Given the description of an element on the screen output the (x, y) to click on. 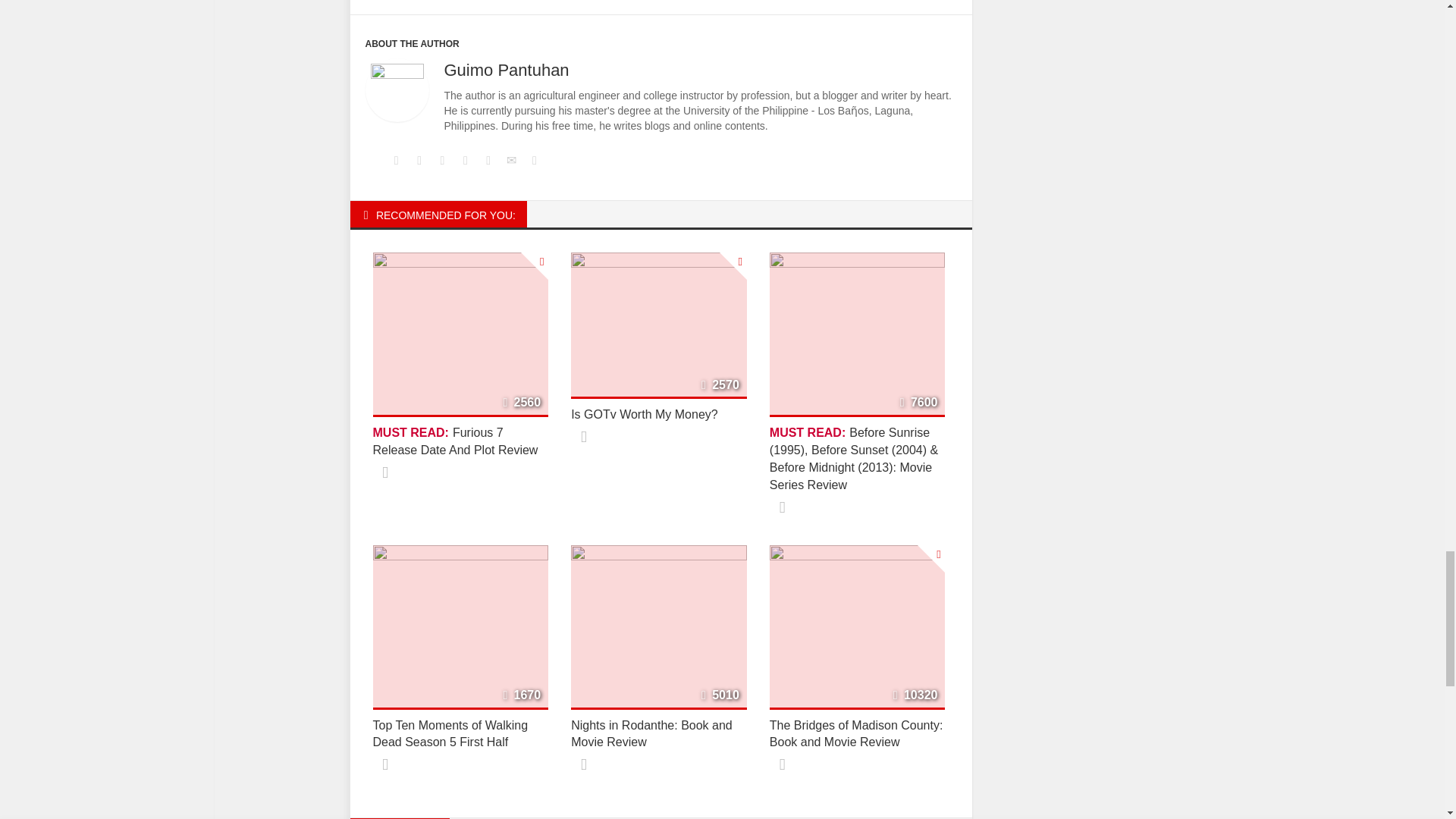
Guimo Pantuhan (506, 69)
See all posts from this author (396, 90)
